Given the description of an element on the screen output the (x, y) to click on. 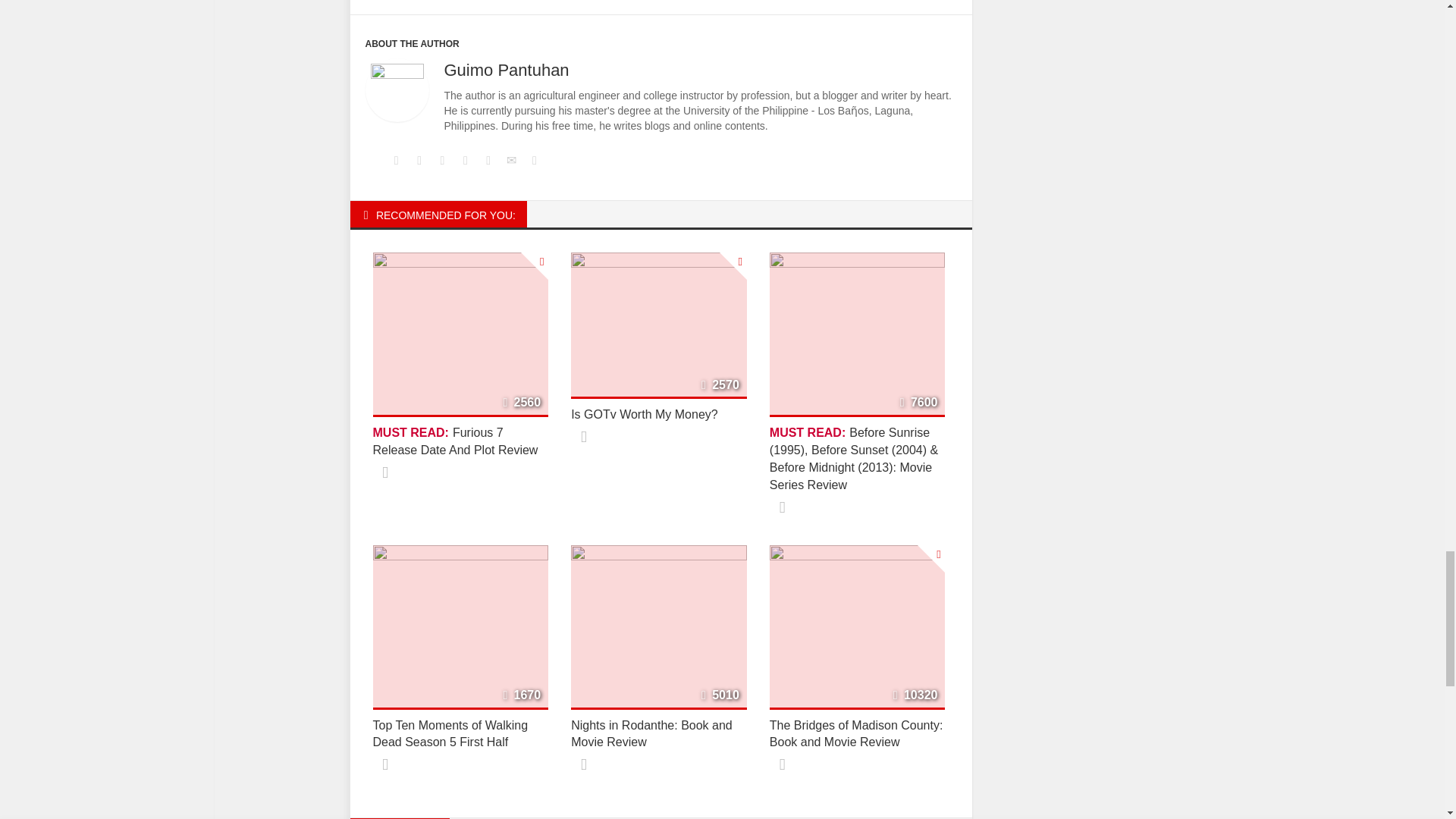
Guimo Pantuhan (506, 69)
See all posts from this author (396, 90)
